Given the description of an element on the screen output the (x, y) to click on. 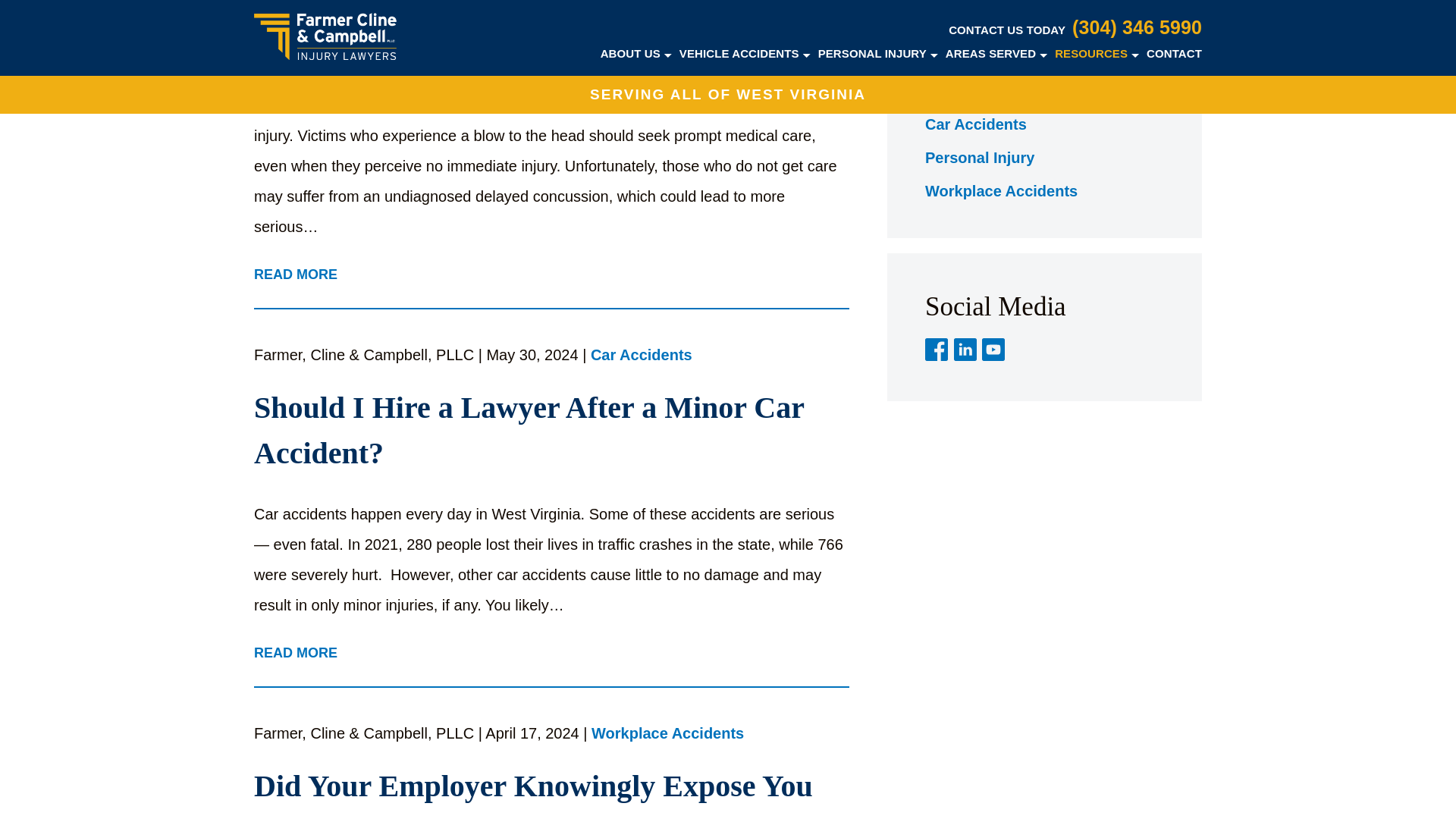
READ MORE (295, 275)
Workplace Accidents (667, 733)
Delayed Concussion Symptoms (550, 44)
Brain Injuries (644, 1)
Should I Hire a Lawyer After a Minor Car Accident? (550, 429)
Car Accidents (642, 355)
READ MORE (295, 653)
